Given the description of an element on the screen output the (x, y) to click on. 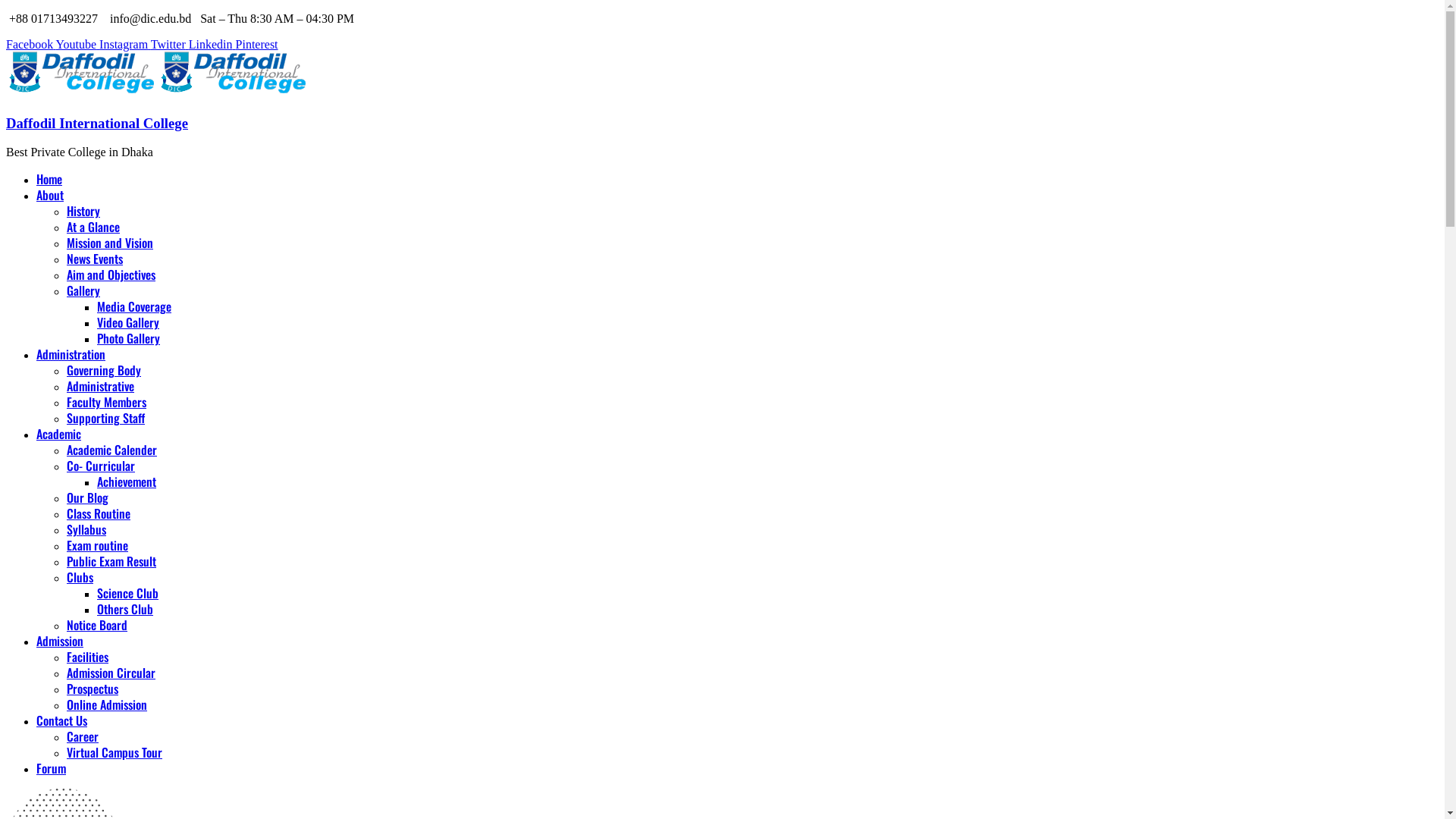
Pinterest Element type: text (256, 43)
Governing Body Element type: text (103, 370)
Faculty Members Element type: text (106, 402)
Admission Circular Element type: text (110, 673)
Instagram Element type: text (124, 43)
Science Club Element type: text (127, 593)
Public Exam Result Element type: text (111, 561)
Daffodil International College Element type: hover (81, 93)
Gallery Element type: text (83, 291)
Notice Board Element type: text (96, 625)
Class Routine Element type: text (98, 514)
Twitter Element type: text (169, 43)
Exam routine Element type: text (97, 545)
Daffodil International College Element type: text (97, 123)
About Element type: text (49, 195)
Academic Calender Element type: text (111, 450)
Achievement Element type: text (126, 482)
Video Gallery Element type: text (128, 322)
Contact Us Element type: text (61, 721)
Career Element type: text (82, 737)
Clubs Element type: text (79, 577)
Admission Element type: text (59, 641)
Facilities Element type: text (87, 657)
Virtual Campus Tour Element type: text (114, 752)
Others Club Element type: text (125, 609)
News Events Element type: text (94, 259)
Home Element type: text (49, 179)
Aim and Objectives Element type: text (110, 275)
Supporting Staff Element type: text (105, 418)
At a Glance Element type: text (92, 227)
Our Blog Element type: text (87, 498)
Academic Element type: text (58, 434)
Youtube Element type: text (78, 43)
Linkedin Element type: text (211, 43)
Syllabus Element type: text (86, 530)
Facebook Element type: text (31, 43)
Administration Element type: text (70, 354)
Forum Element type: text (50, 768)
Prospectus Element type: text (92, 689)
Mission and Vision Element type: text (109, 243)
Online Admission Element type: text (106, 705)
Media Coverage Element type: text (134, 307)
Co- Curricular Element type: text (100, 466)
Photo Gallery Element type: text (128, 338)
Administrative Element type: text (100, 386)
History Element type: text (83, 211)
Daffodil International College Element type: hover (233, 93)
